Given the description of an element on the screen output the (x, y) to click on. 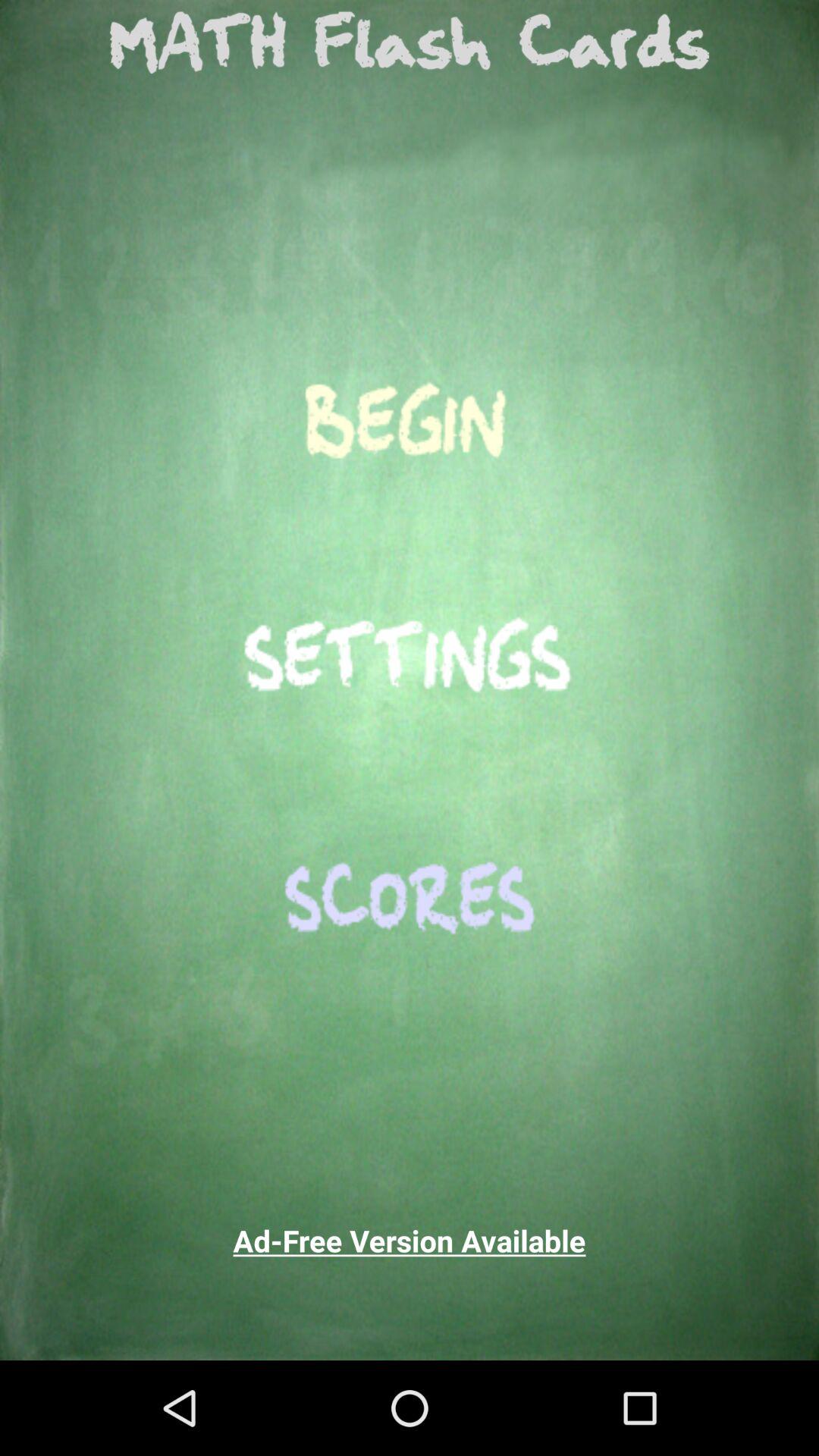
flip to the ad free version (409, 1240)
